Given the description of an element on the screen output the (x, y) to click on. 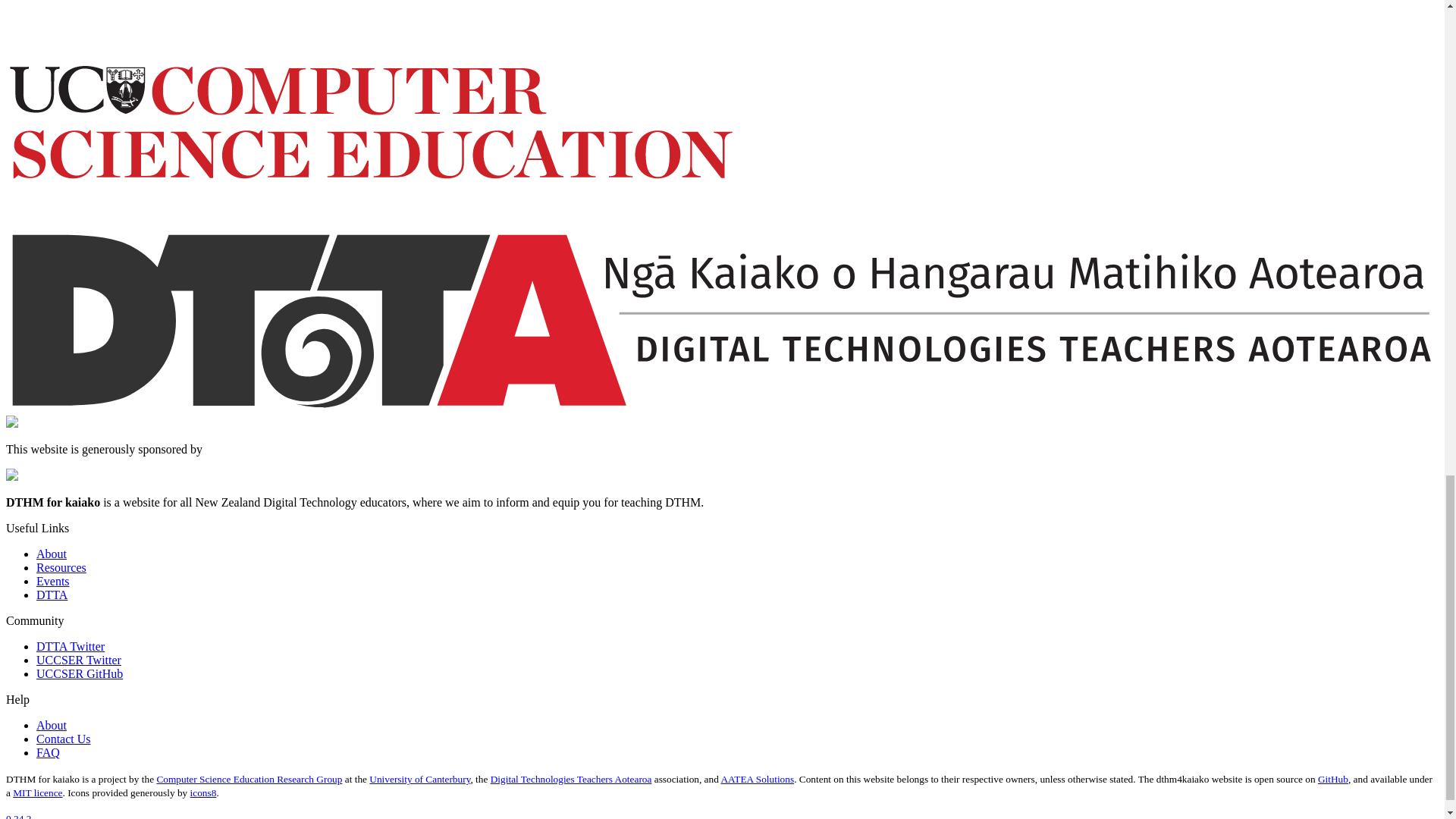
DTTA (51, 594)
Computer Science Education Research Group (248, 778)
Events (52, 581)
GitHub (1332, 778)
Contact Us (63, 738)
DTTA Twitter (70, 645)
UCCSER GitHub (79, 673)
About (51, 725)
icons8 (203, 792)
Resources (60, 567)
